Given the description of an element on the screen output the (x, y) to click on. 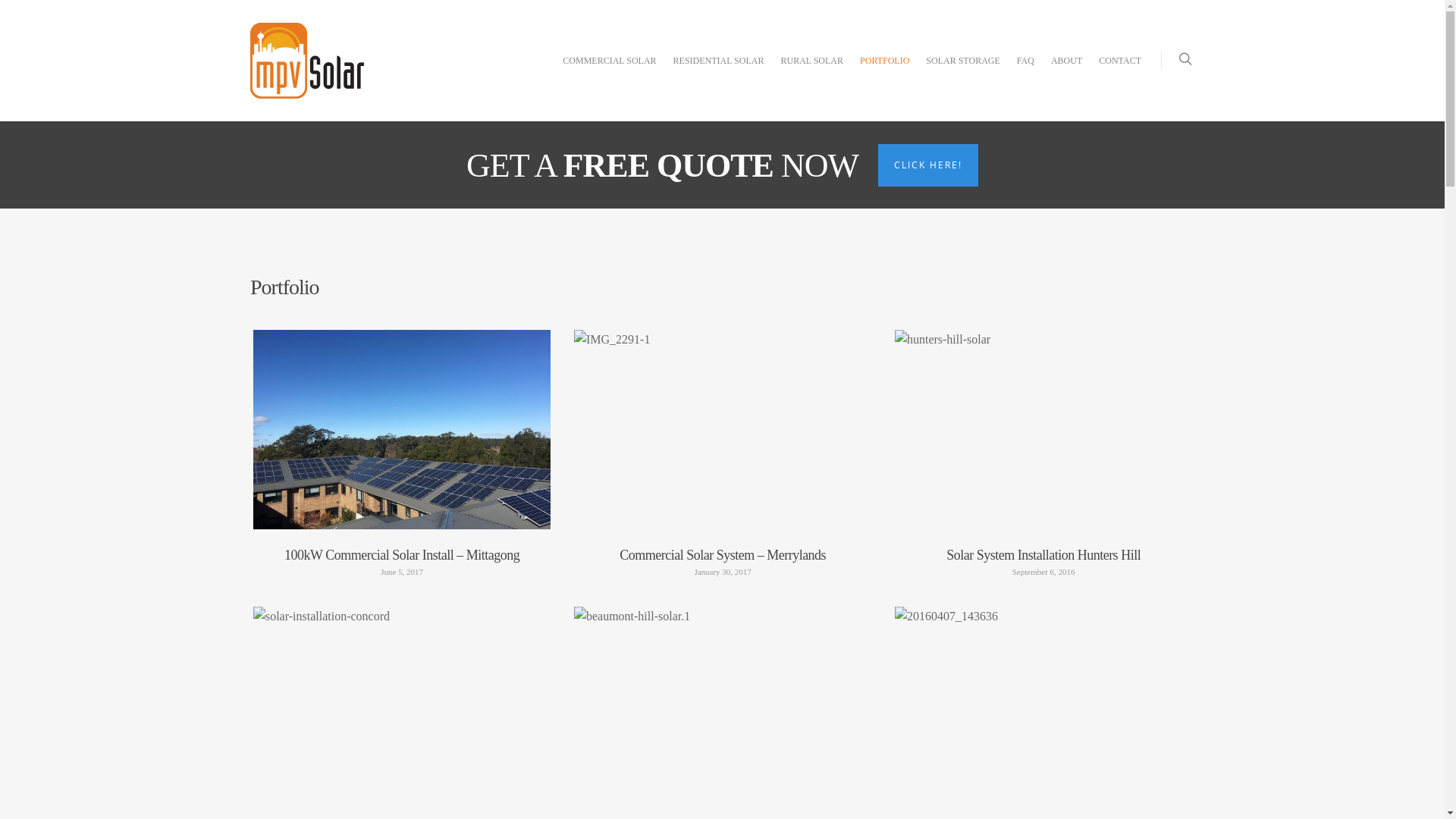
RESIDENTIAL SOLAR Element type: text (718, 71)
ABOUT Element type: text (1066, 71)
RURAL SOLAR Element type: text (811, 71)
CONTACT Element type: text (1119, 71)
COMMERCIAL SOLAR Element type: text (609, 71)
FAQ Element type: text (1025, 71)
PORTFOLIO Element type: text (884, 71)
CLICK HERE! Element type: text (928, 165)
SOLAR STORAGE Element type: text (962, 71)
